Given the description of an element on the screen output the (x, y) to click on. 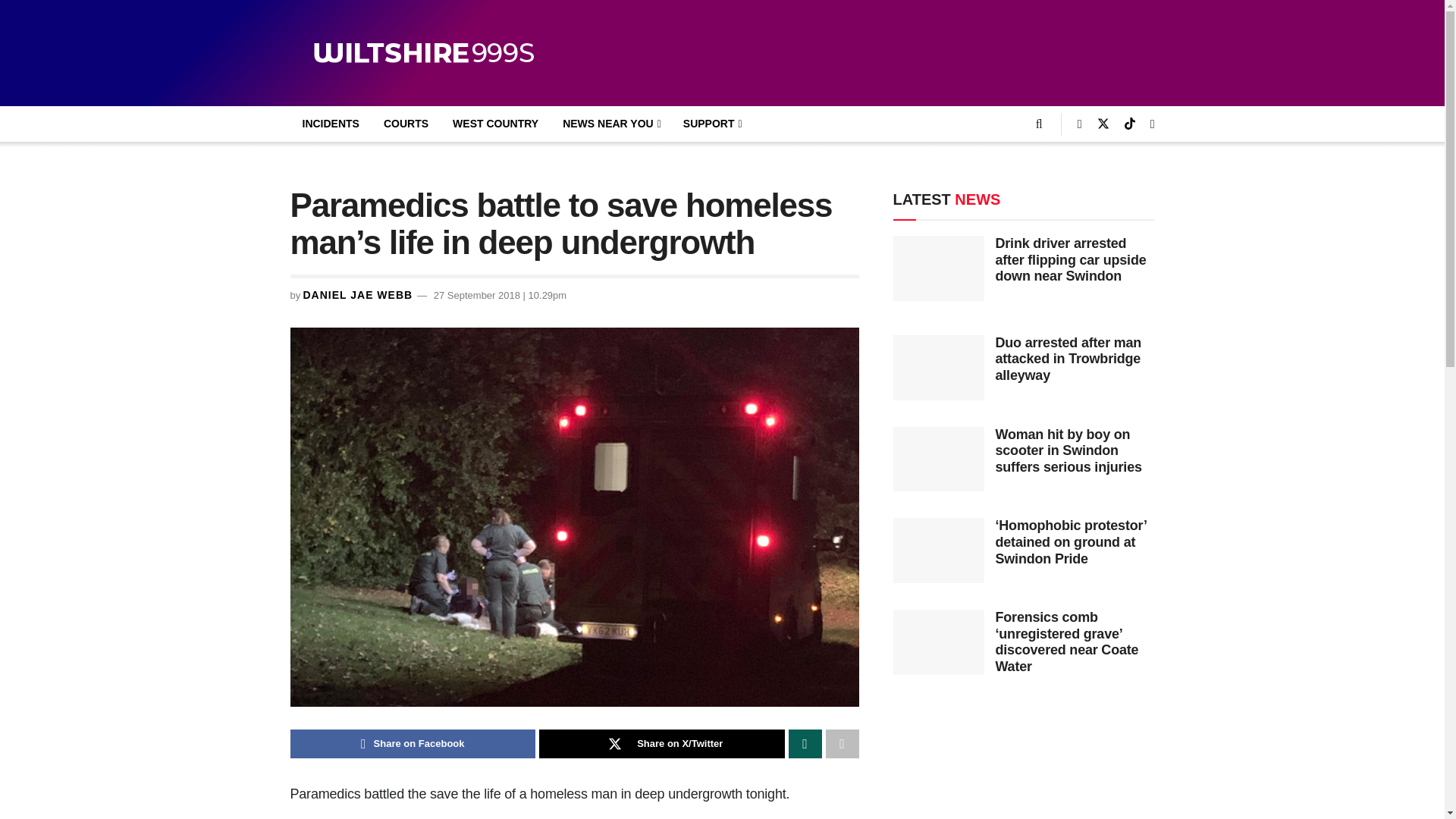
COURTS (406, 123)
SUPPORT (711, 123)
WEST COUNTRY (495, 123)
NEWS NEAR YOU (610, 123)
INCIDENTS (330, 123)
Share on Facebook (412, 743)
DANIEL JAE WEBB (357, 295)
